Given the description of an element on the screen output the (x, y) to click on. 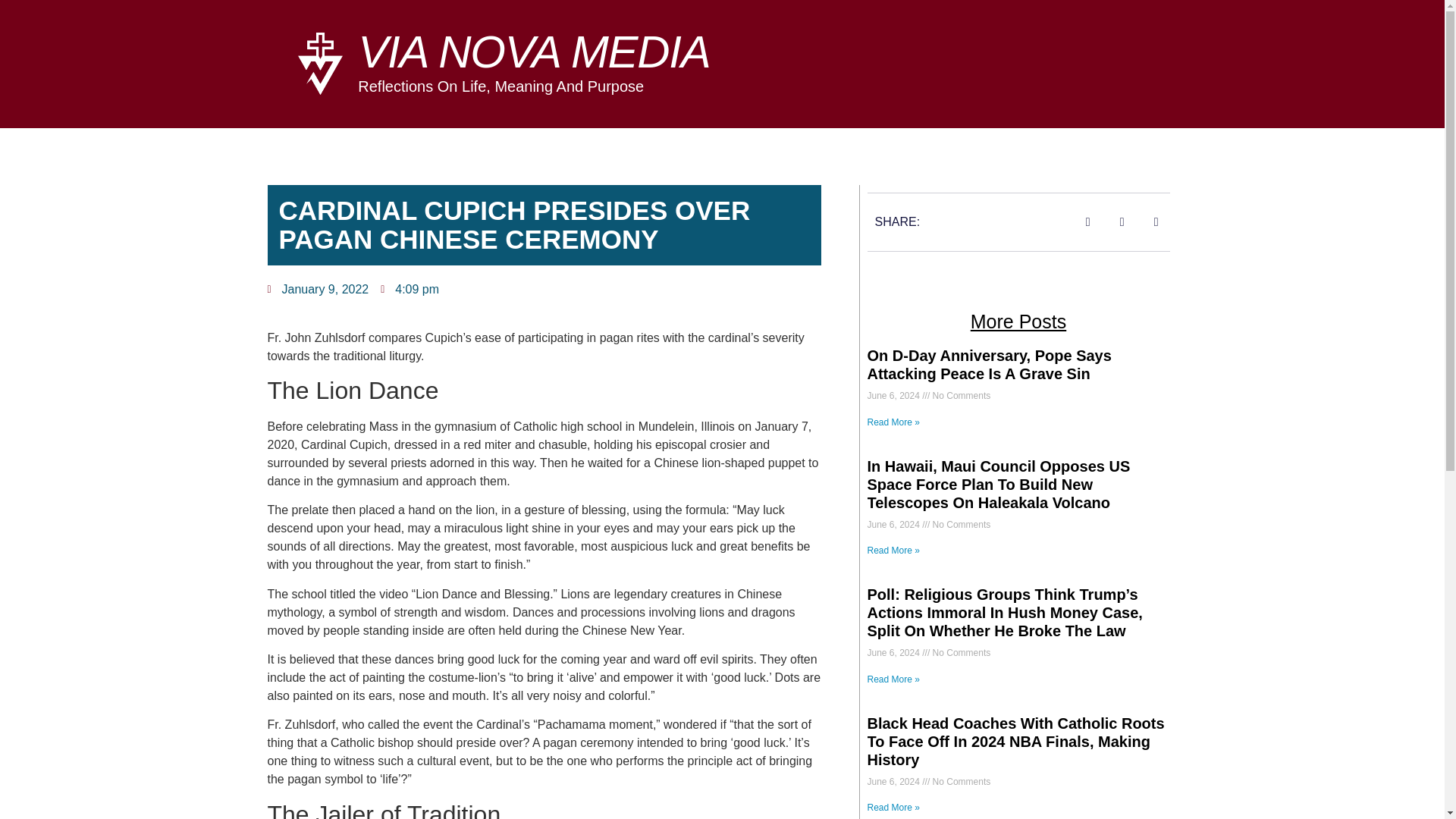
January 9, 2022 (317, 289)
VIA NOVA MEDIA (534, 51)
